Given the description of an element on the screen output the (x, y) to click on. 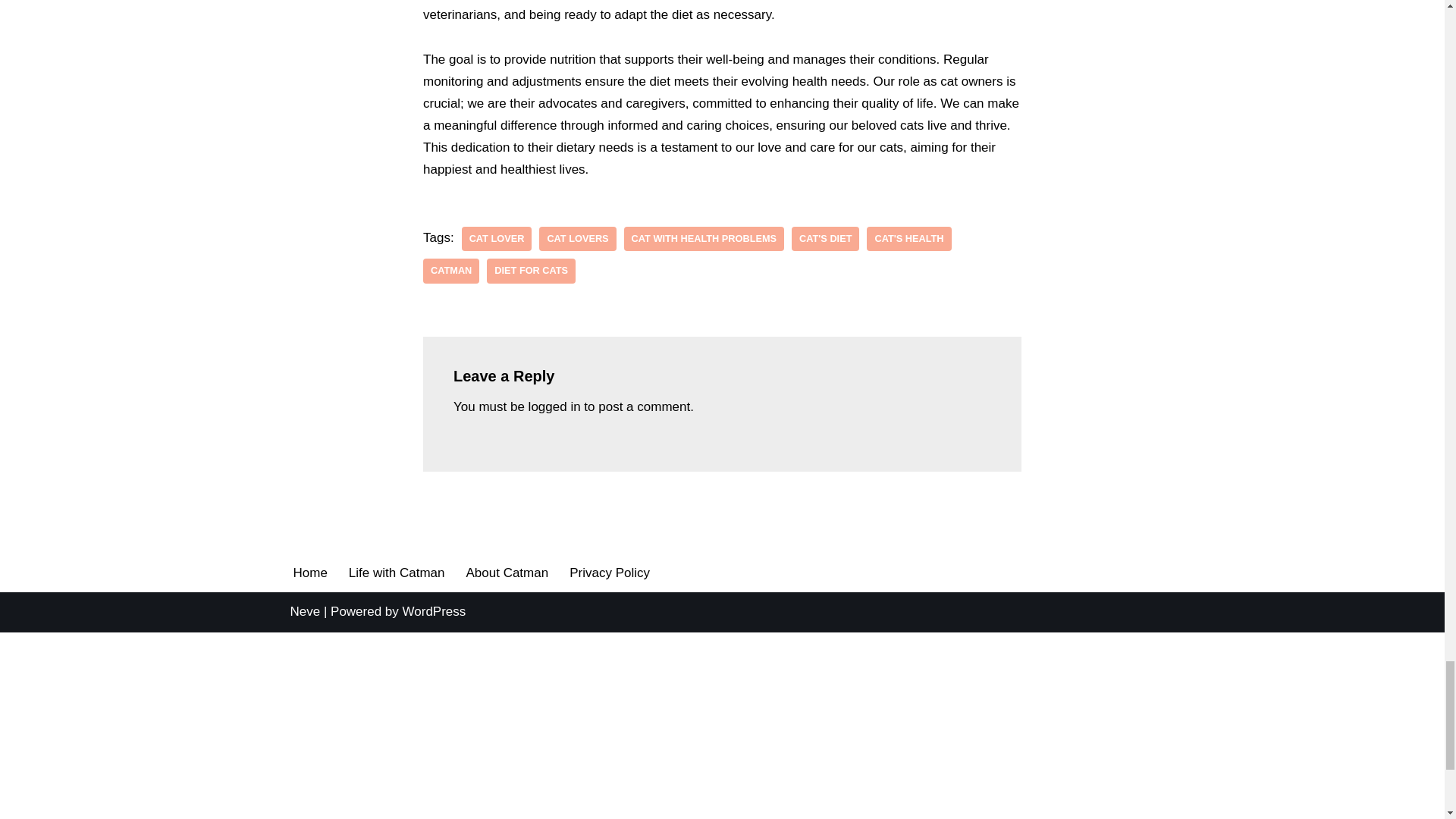
cat's health (908, 238)
CATMAN (451, 270)
cat's diet (825, 238)
DIET FOR CATS (530, 270)
CAT'S HEALTH (908, 238)
diet for cats (530, 270)
Home (309, 572)
logged in (554, 406)
CAT'S DIET (825, 238)
About Catman (506, 572)
Life with Catman (397, 572)
CAT LOVER (496, 238)
cat lover (496, 238)
CAT LOVERS (576, 238)
cat with health problems (704, 238)
